Given the description of an element on the screen output the (x, y) to click on. 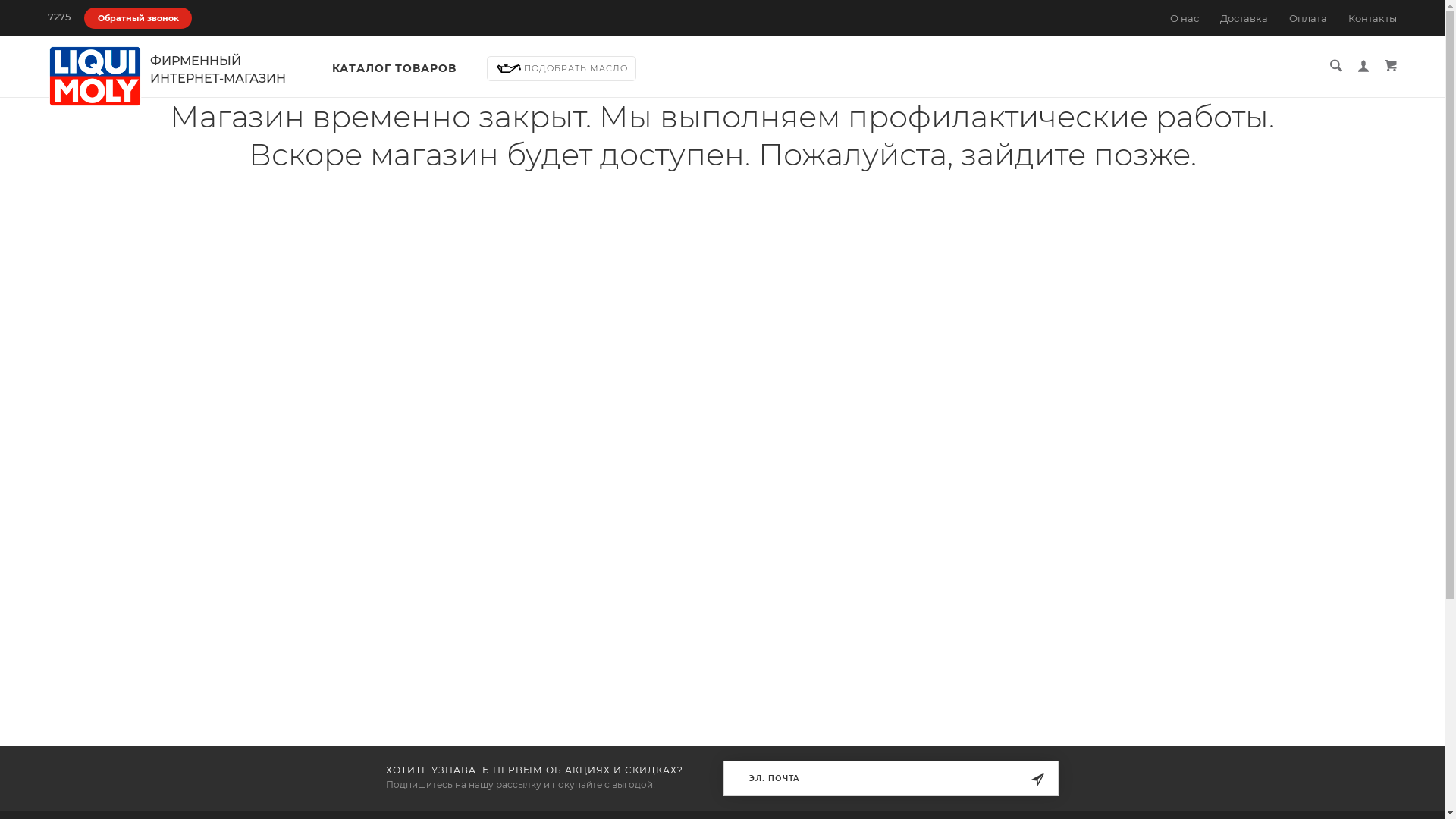
7275 Element type: text (58, 16)
